Given the description of an element on the screen output the (x, y) to click on. 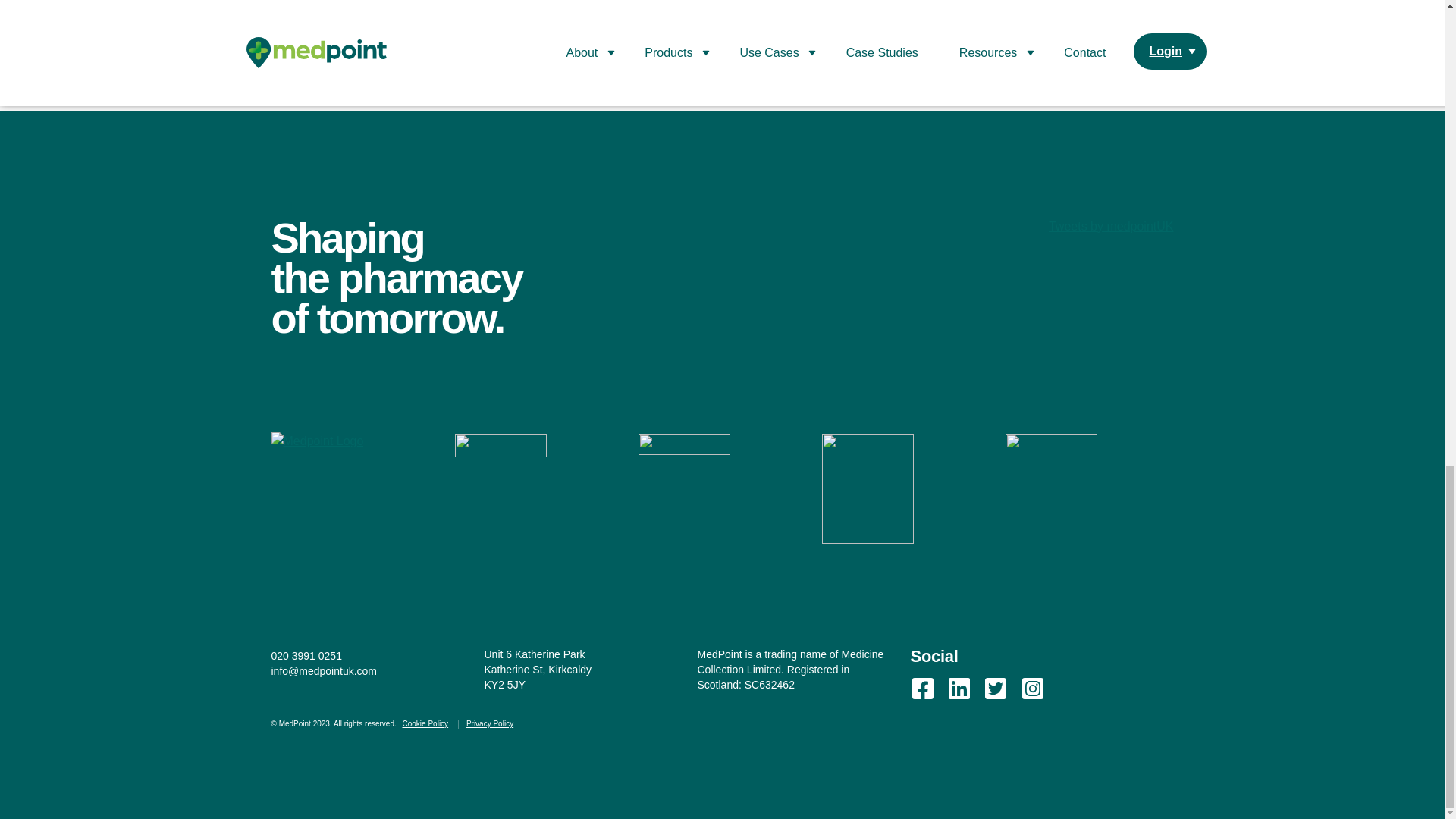
020 3991 0251 (323, 655)
Privacy Policy (489, 723)
ISO 27001 (1051, 526)
Tweets by medpointUK (1110, 226)
Privacy Policy (489, 723)
Cookie Policy (425, 723)
Cookie Policy (425, 723)
